Given the description of an element on the screen output the (x, y) to click on. 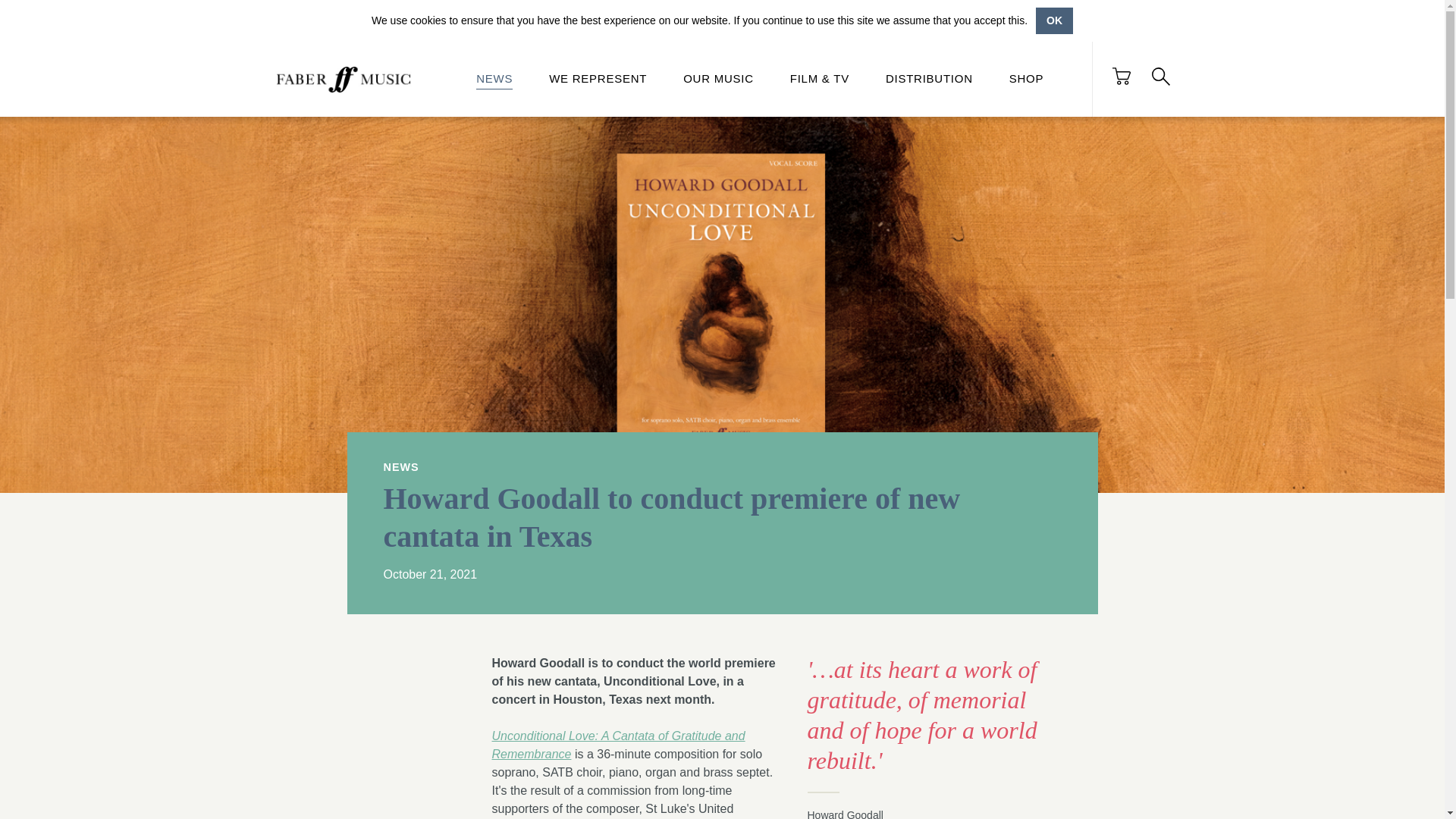
Your Basket (1121, 76)
Search (1160, 76)
SHOP (1026, 80)
DISTRIBUTION (928, 80)
OUR MUSIC (718, 80)
Unconditional Love: A Cantata of Gratitude and Remembrance (618, 744)
NEWS (494, 80)
WE REPRESENT (597, 80)
